Given the description of an element on the screen output the (x, y) to click on. 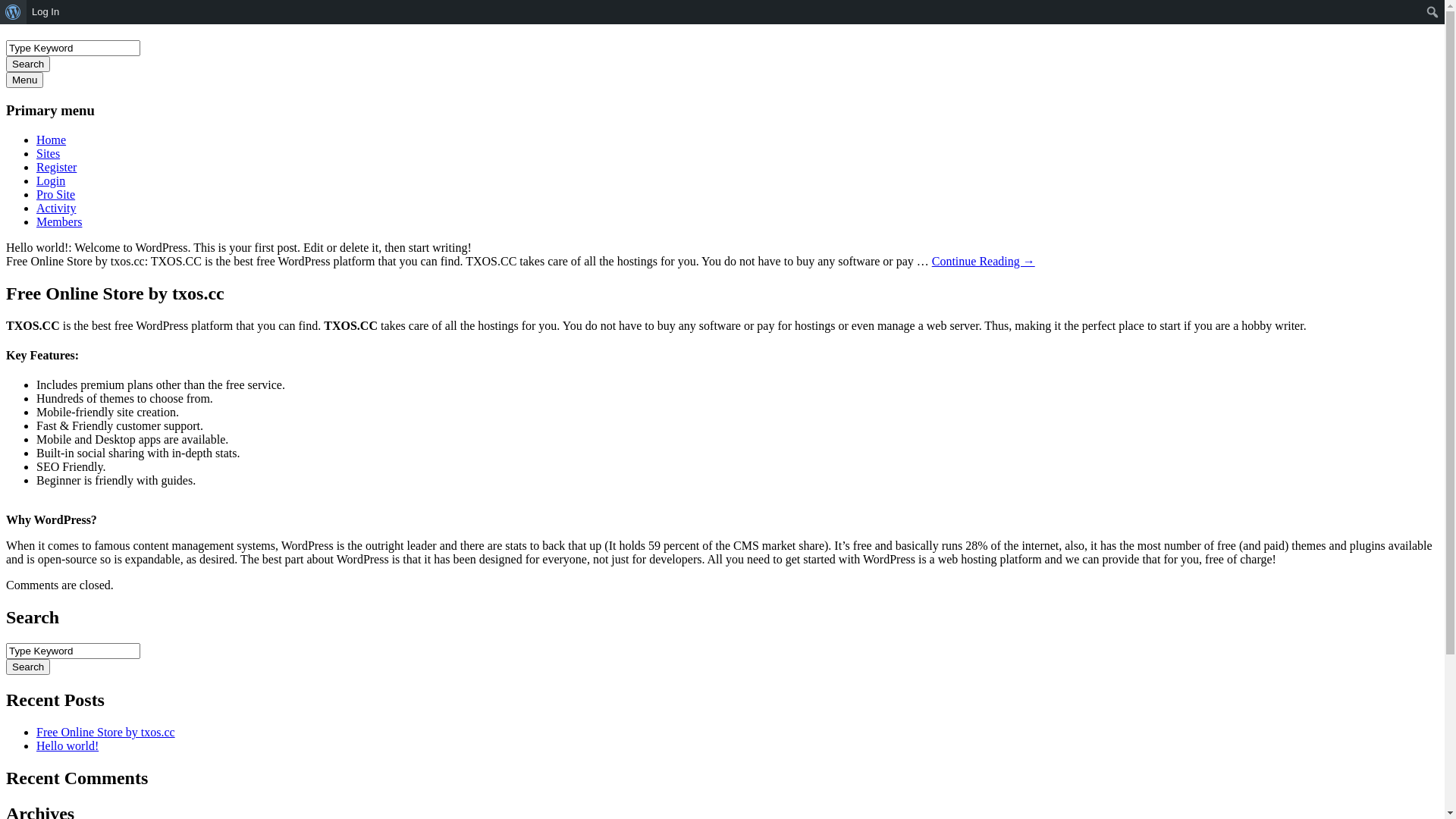
About WordPress Element type: text (13, 12)
Log In Element type: text (45, 12)
Type Keyword Element type: hover (73, 650)
Search Element type: text (28, 666)
Hello world! Element type: text (67, 745)
Type Keyword Element type: hover (73, 48)
Sites Element type: text (47, 153)
Search Element type: text (17, 13)
Home Element type: text (50, 139)
Search Element type: text (28, 64)
Skip to content Element type: text (5, 39)
Activity Element type: text (55, 207)
Members Element type: text (58, 221)
Register Element type: text (56, 166)
Free Online Store by txos.cc Element type: text (105, 731)
Pro Site Element type: text (55, 194)
Login Element type: text (50, 180)
Menu Element type: text (24, 79)
